Given the description of an element on the screen output the (x, y) to click on. 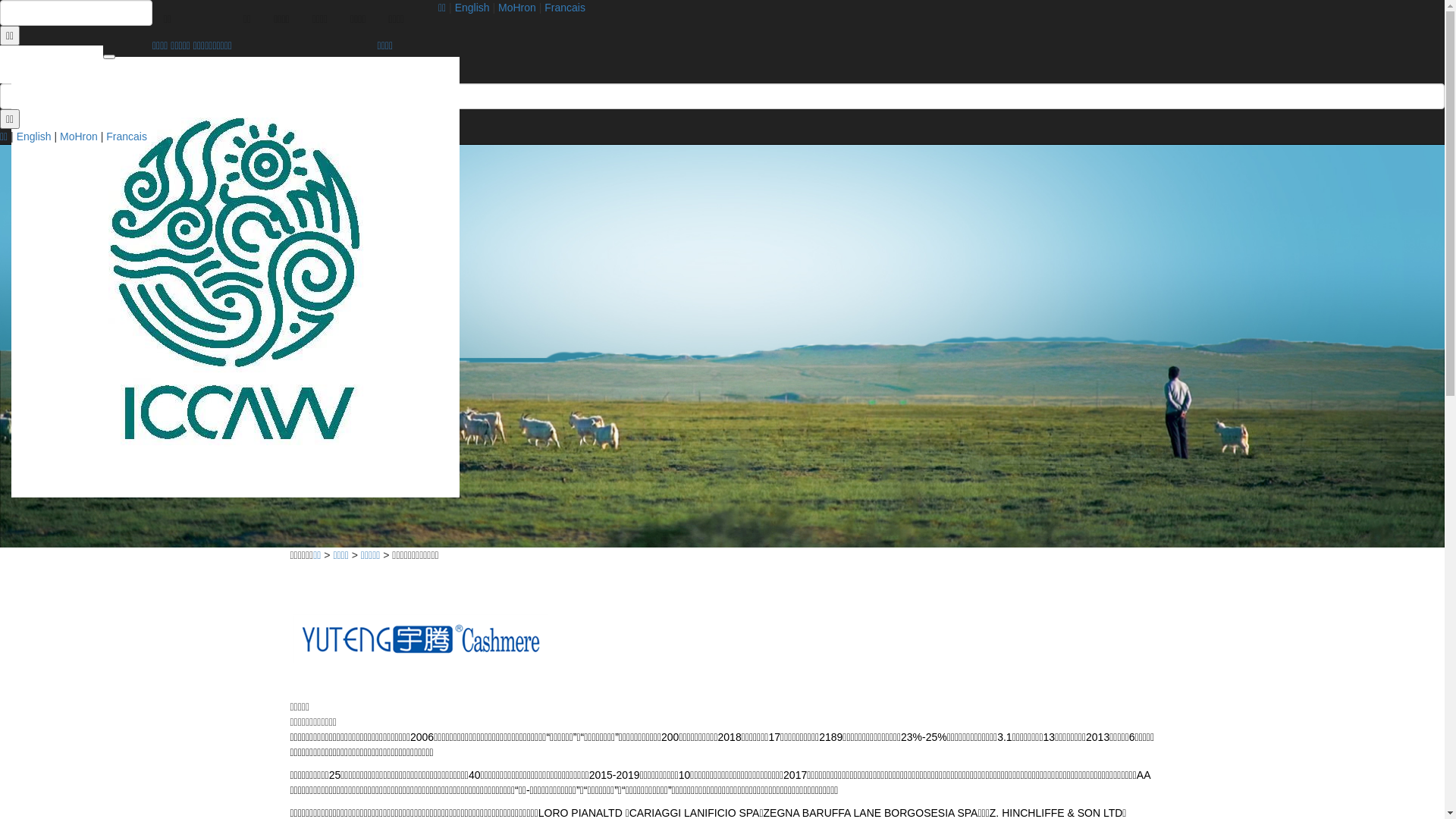
English Element type: text (472, 7)
Francais Element type: text (564, 7)
MoHron Element type: text (517, 7)
English Element type: text (33, 136)
Francais Element type: text (126, 136)
MoHron Element type: text (78, 136)
